Given the description of an element on the screen output the (x, y) to click on. 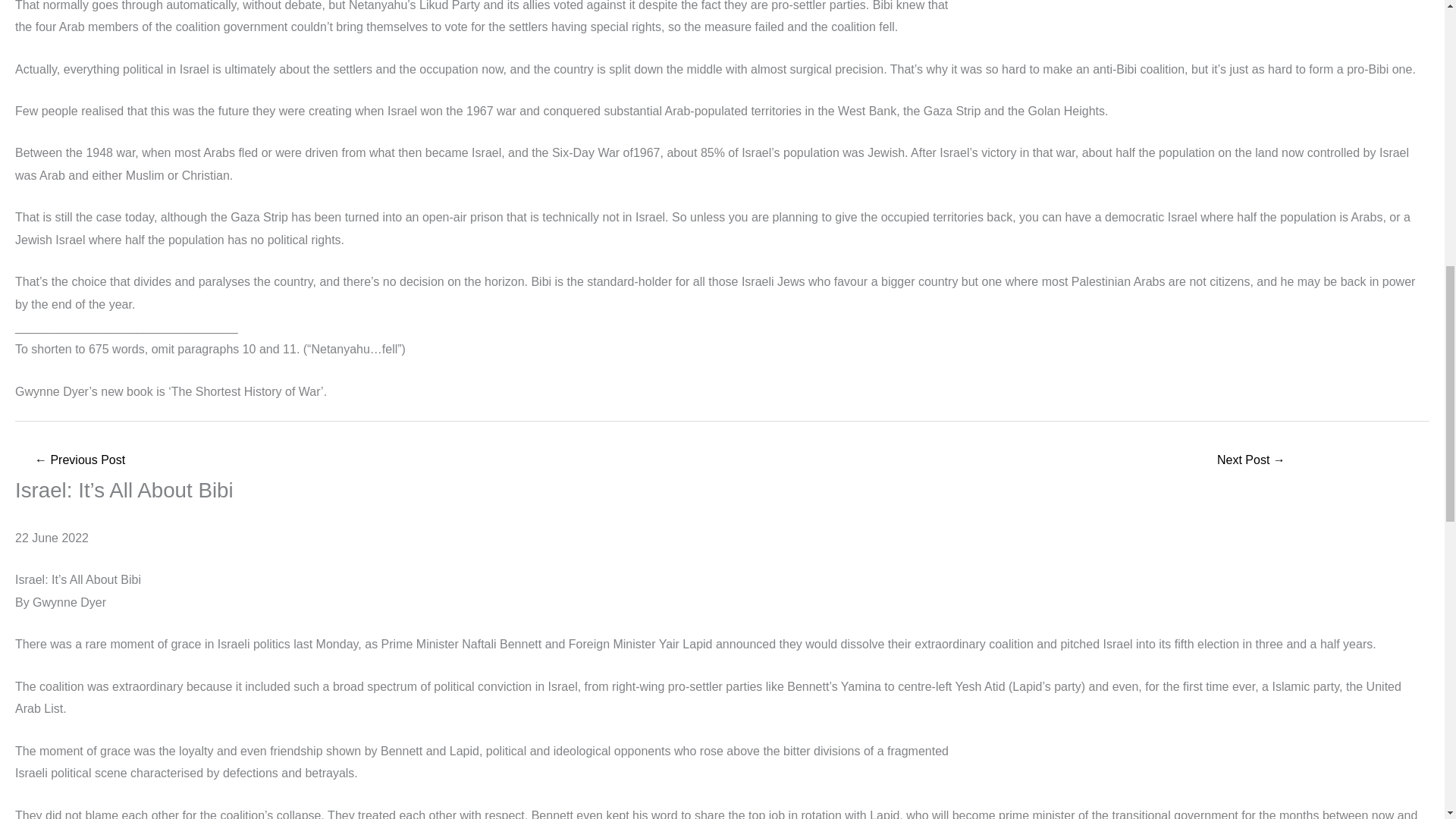
South Africa: How Did Ramaphosa Get So Rich? (79, 461)
Welcome to Gilead! (1251, 461)
